Given the description of an element on the screen output the (x, y) to click on. 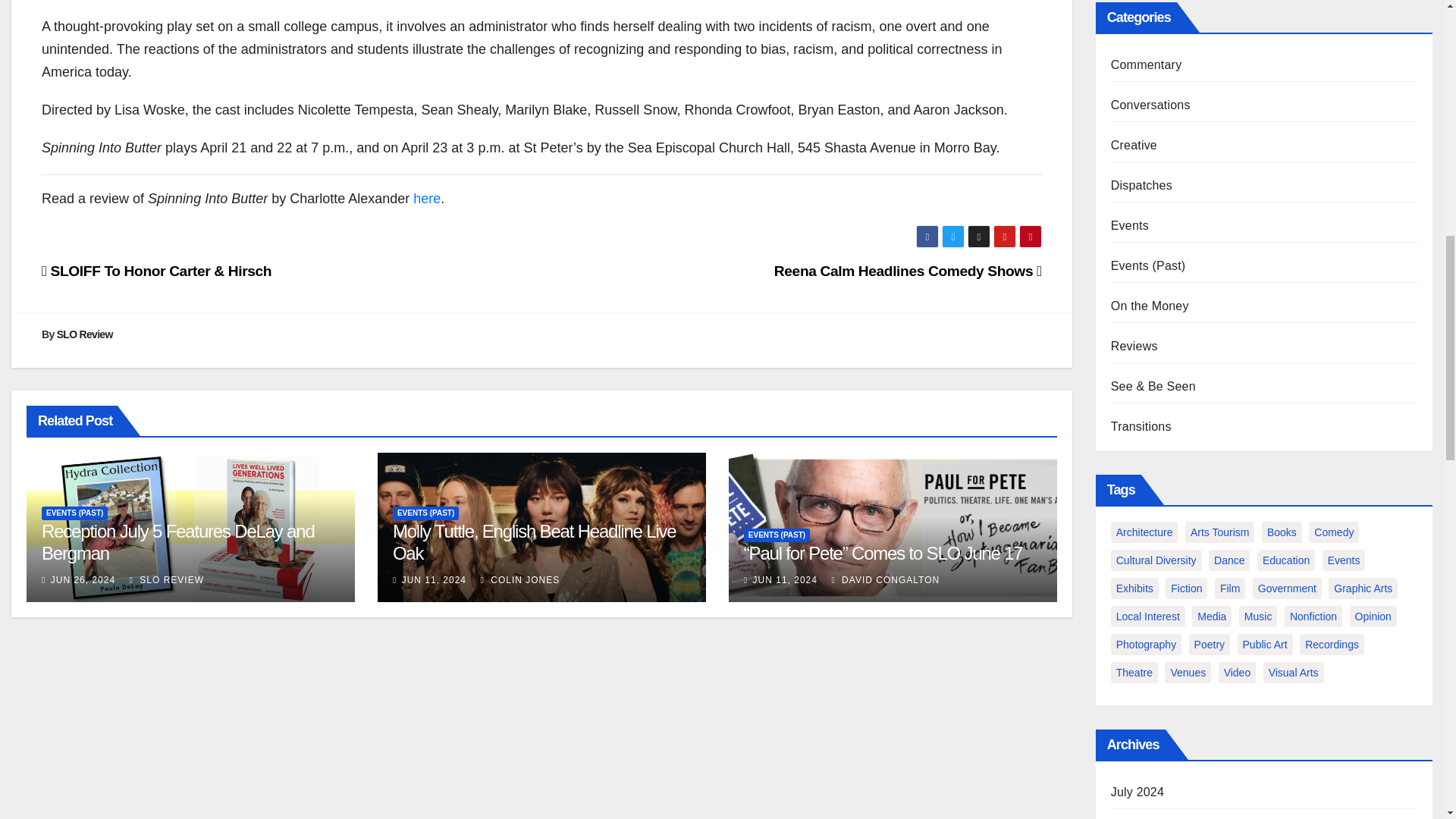
Permalink to: Molly Tuttle, English Beat Headline Live Oak (535, 541)
here (427, 198)
Reception July 5 Features DeLay and Bergman (178, 541)
Reena Calm Headlines Comedy Shows (908, 270)
SLO Review (84, 334)
Permalink to: Reception July 5 Features DeLay and Bergman (178, 541)
